Given the description of an element on the screen output the (x, y) to click on. 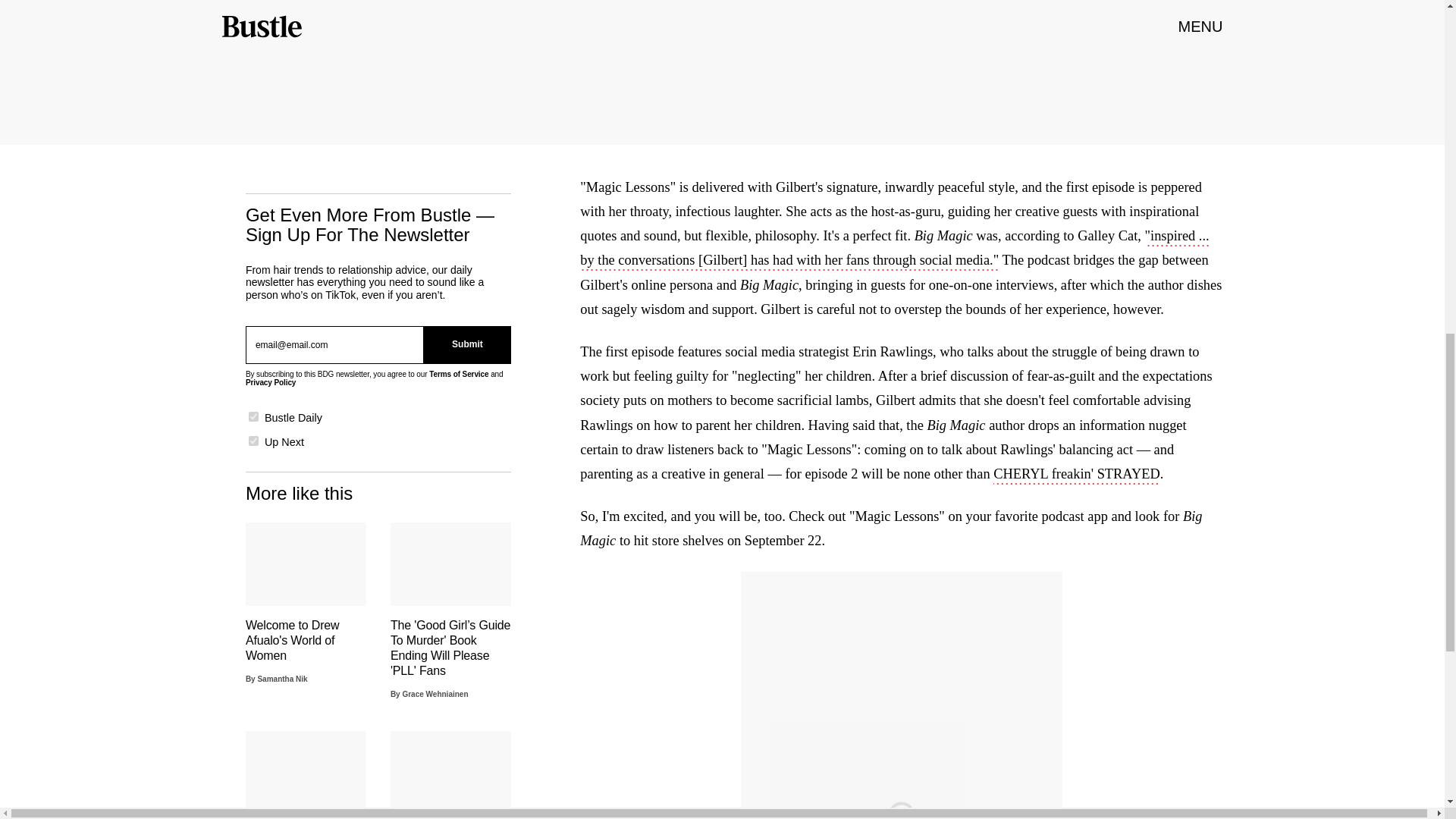
Submit (467, 344)
CHERYL freakin' STRAYED (1076, 475)
Terms of Service (458, 374)
Privacy Policy (270, 382)
